Given the description of an element on the screen output the (x, y) to click on. 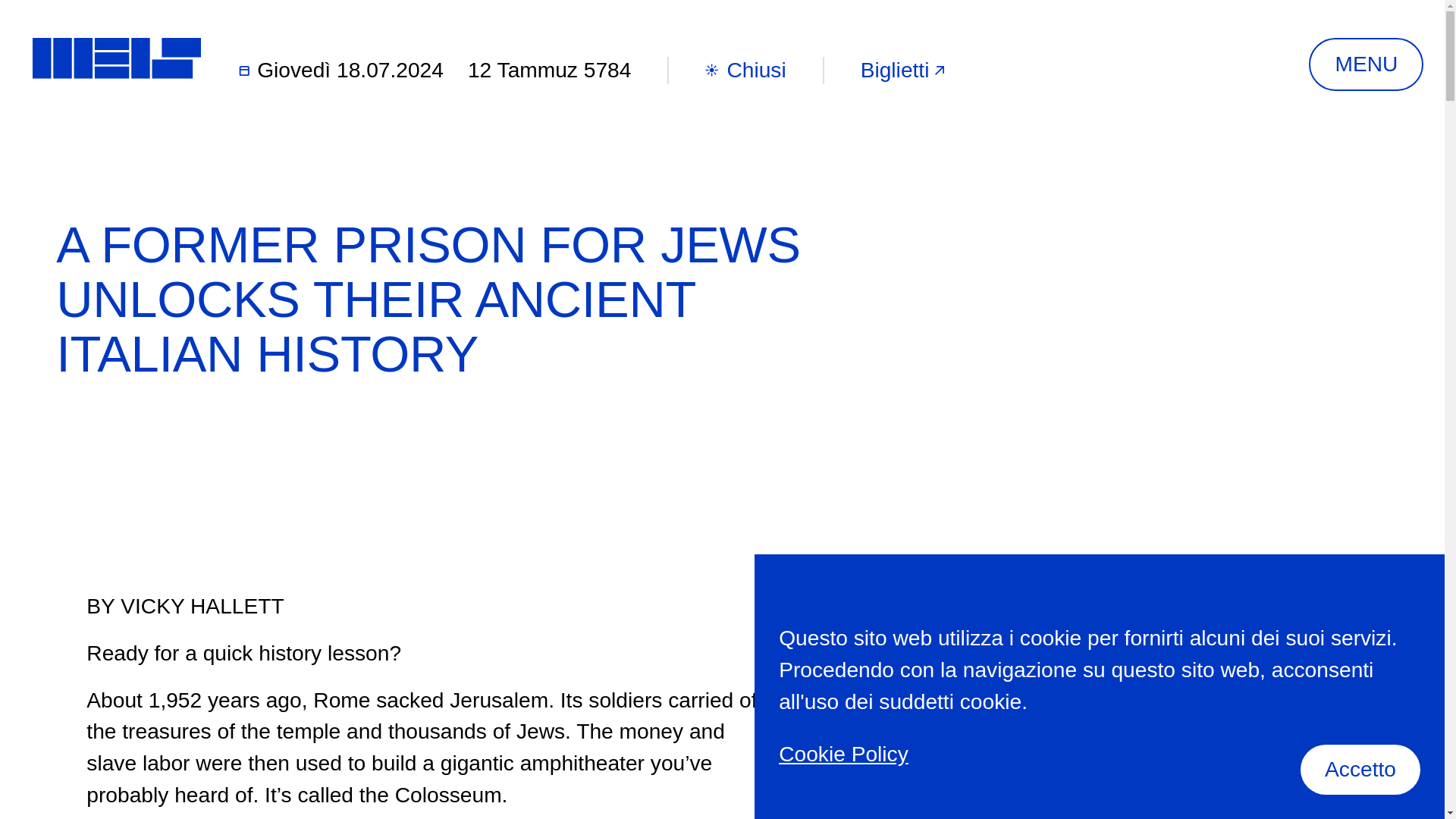
MENU (1365, 63)
Accetto (1360, 769)
Biglietti (905, 70)
Toggle navigation (1365, 63)
MEIS (117, 57)
Cookie Policy (843, 766)
